Given the description of an element on the screen output the (x, y) to click on. 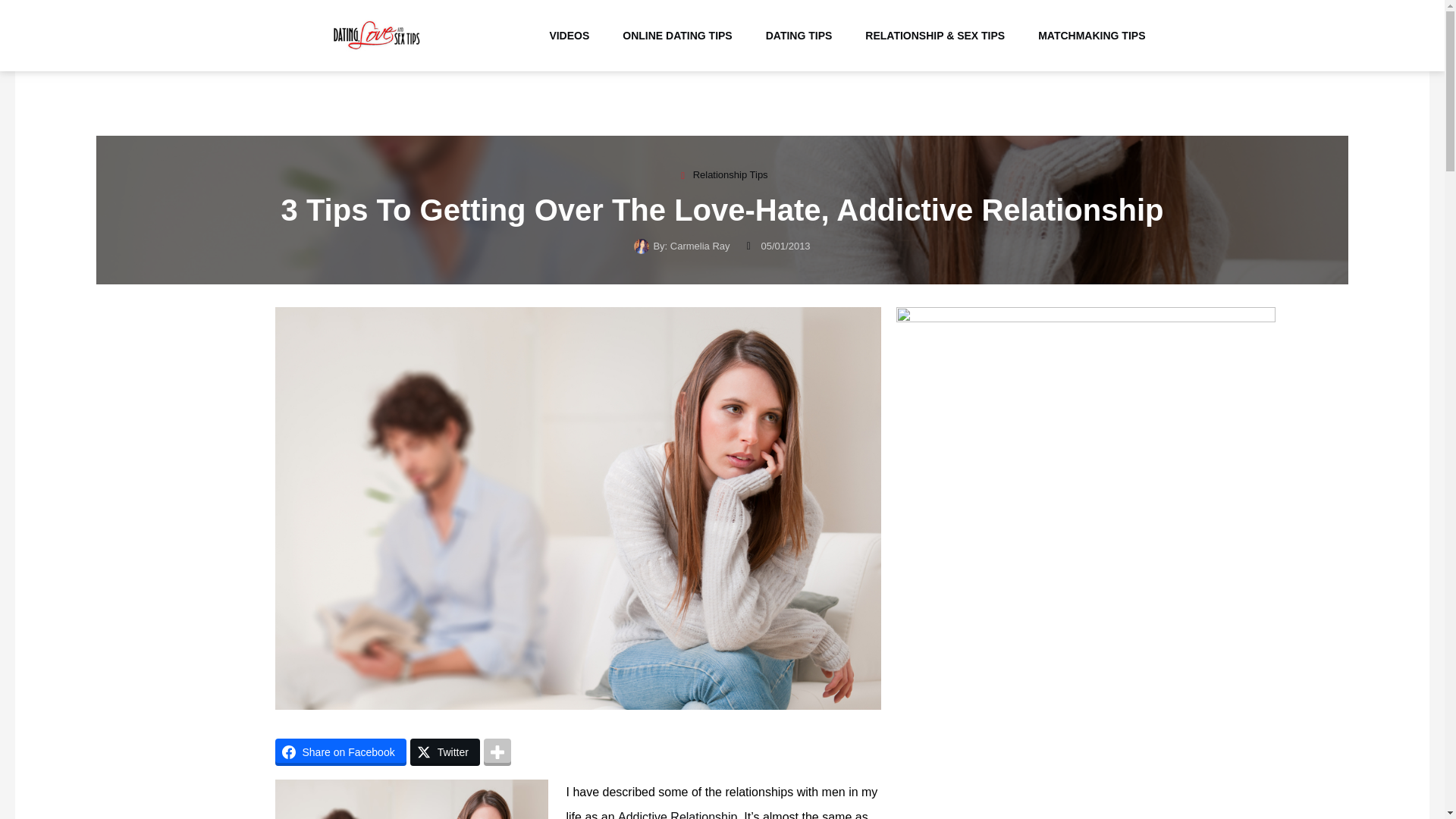
addictive-relationships (411, 799)
Share on Twitter (445, 751)
addiction (676, 814)
Share on More Button (497, 751)
ONLINE DATING TIPS (676, 35)
VIDEOS (568, 35)
MATCHMAKING TIPS (1091, 35)
Share on Share on Facebook (340, 751)
DATING TIPS (798, 35)
